Given the description of an element on the screen output the (x, y) to click on. 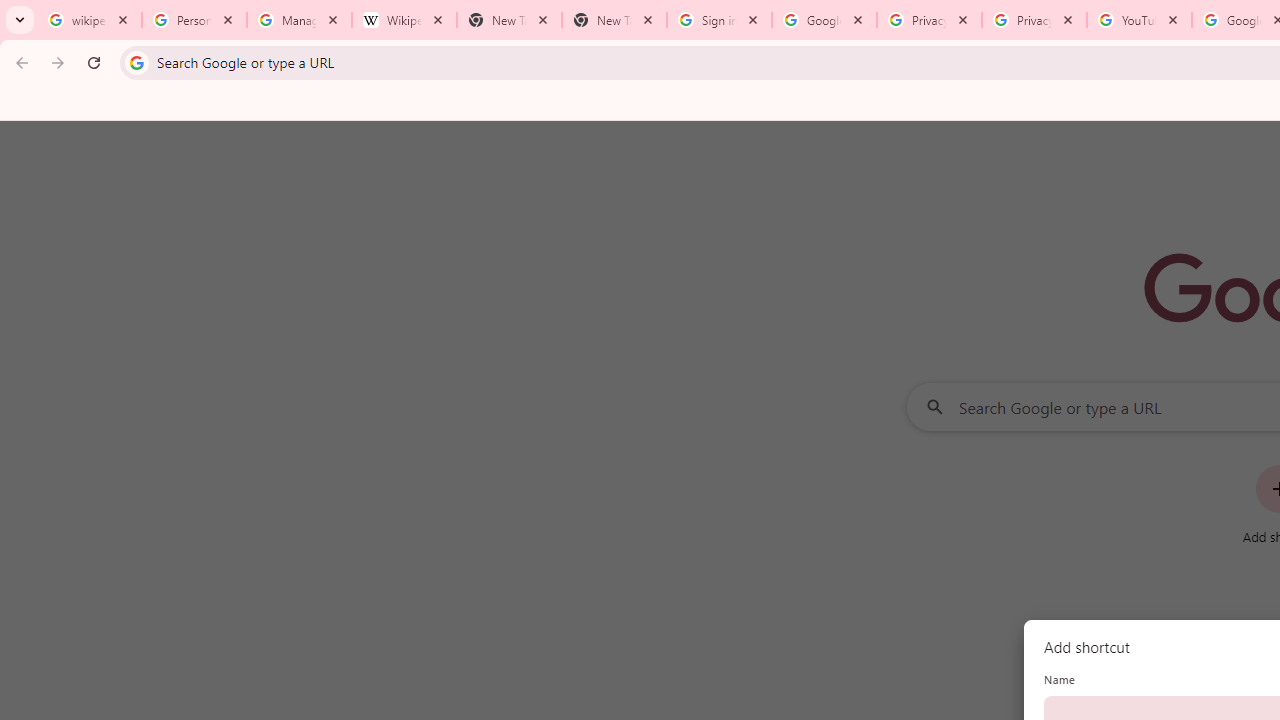
New Tab (613, 20)
Google Drive: Sign-in (823, 20)
Personalization & Google Search results - Google Search Help (194, 20)
Sign in - Google Accounts (718, 20)
Wikipedia:Edit requests - Wikipedia (404, 20)
YouTube (1138, 20)
